Given the description of an element on the screen output the (x, y) to click on. 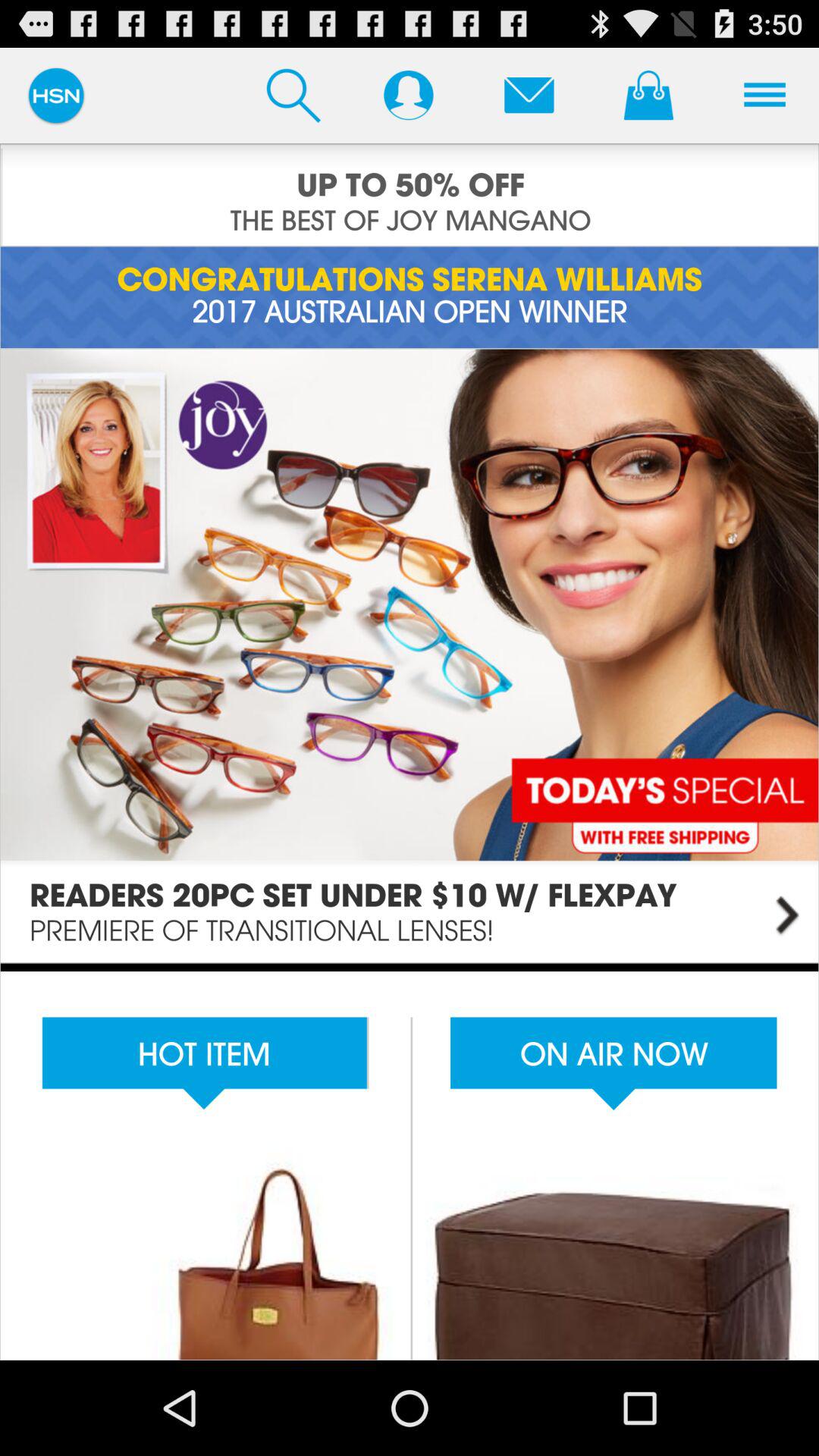
advertising (409, 194)
